Given the description of an element on the screen output the (x, y) to click on. 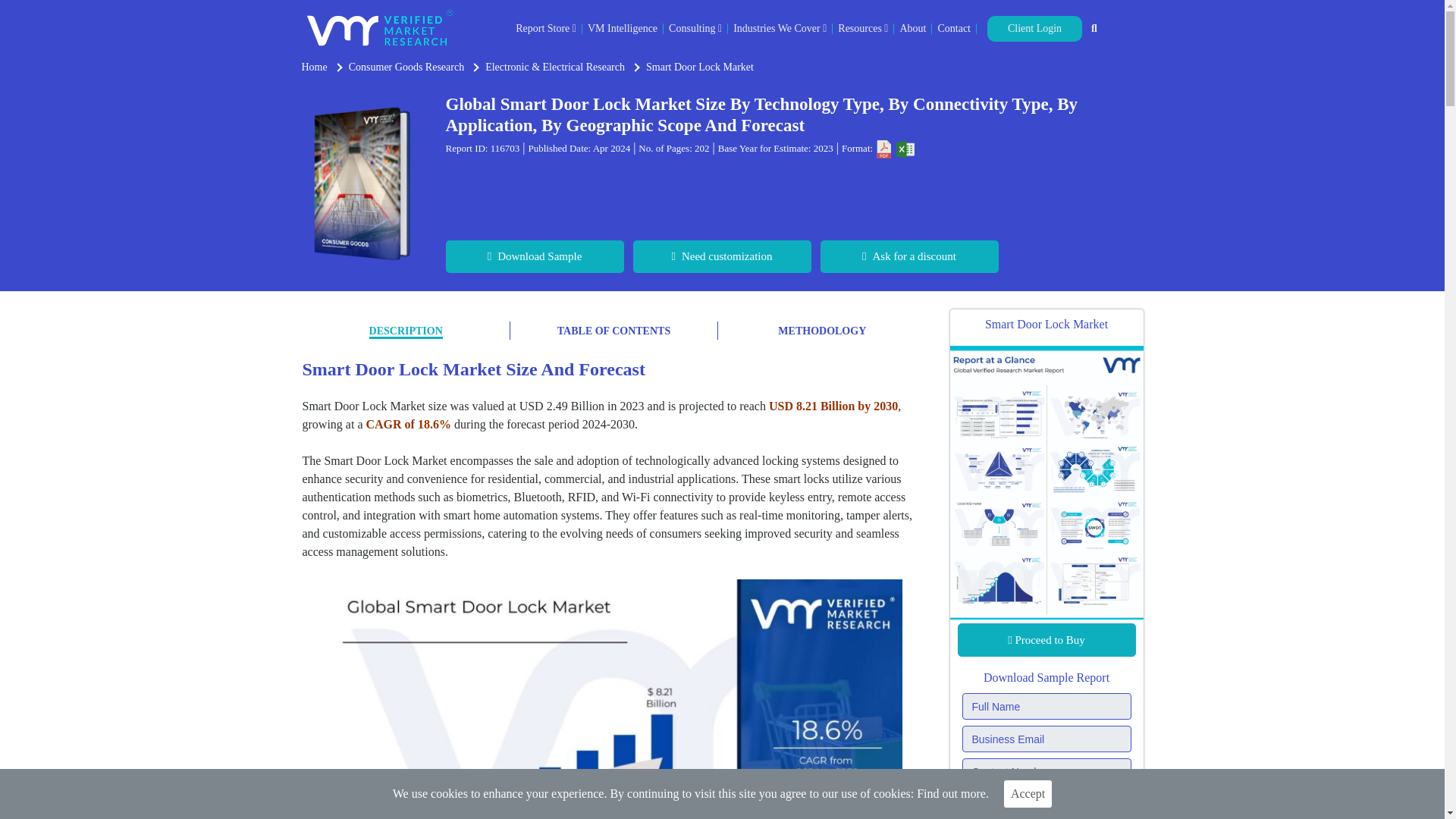
VM Intelligence (622, 28)
About (912, 28)
Consulting (694, 28)
Report Store  (545, 28)
Industries We Cover (780, 28)
VM Intelligence (622, 28)
Consulting  (694, 28)
Report Store (545, 28)
Industries We Cover  (780, 28)
Resources (862, 28)
